Given the description of an element on the screen output the (x, y) to click on. 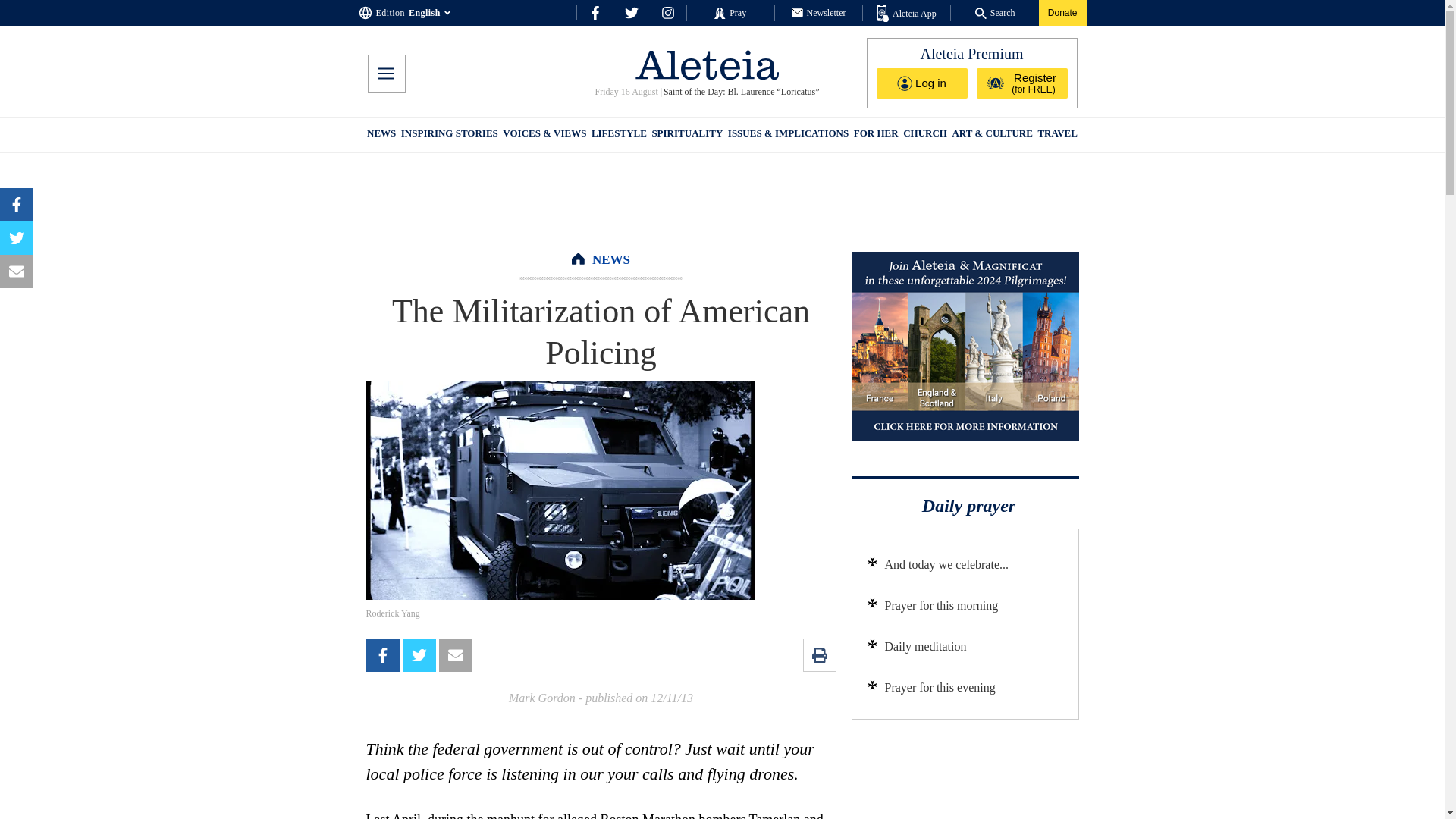
Log in (922, 82)
logo-header (706, 64)
Donate (1062, 12)
FOR HER (875, 134)
social-fb-top-row (595, 12)
social-tw-top-row (631, 12)
Mark Gordon (541, 697)
Newsletter (818, 12)
CHURCH (924, 134)
TRAVEL (1056, 134)
